Given the description of an element on the screen output the (x, y) to click on. 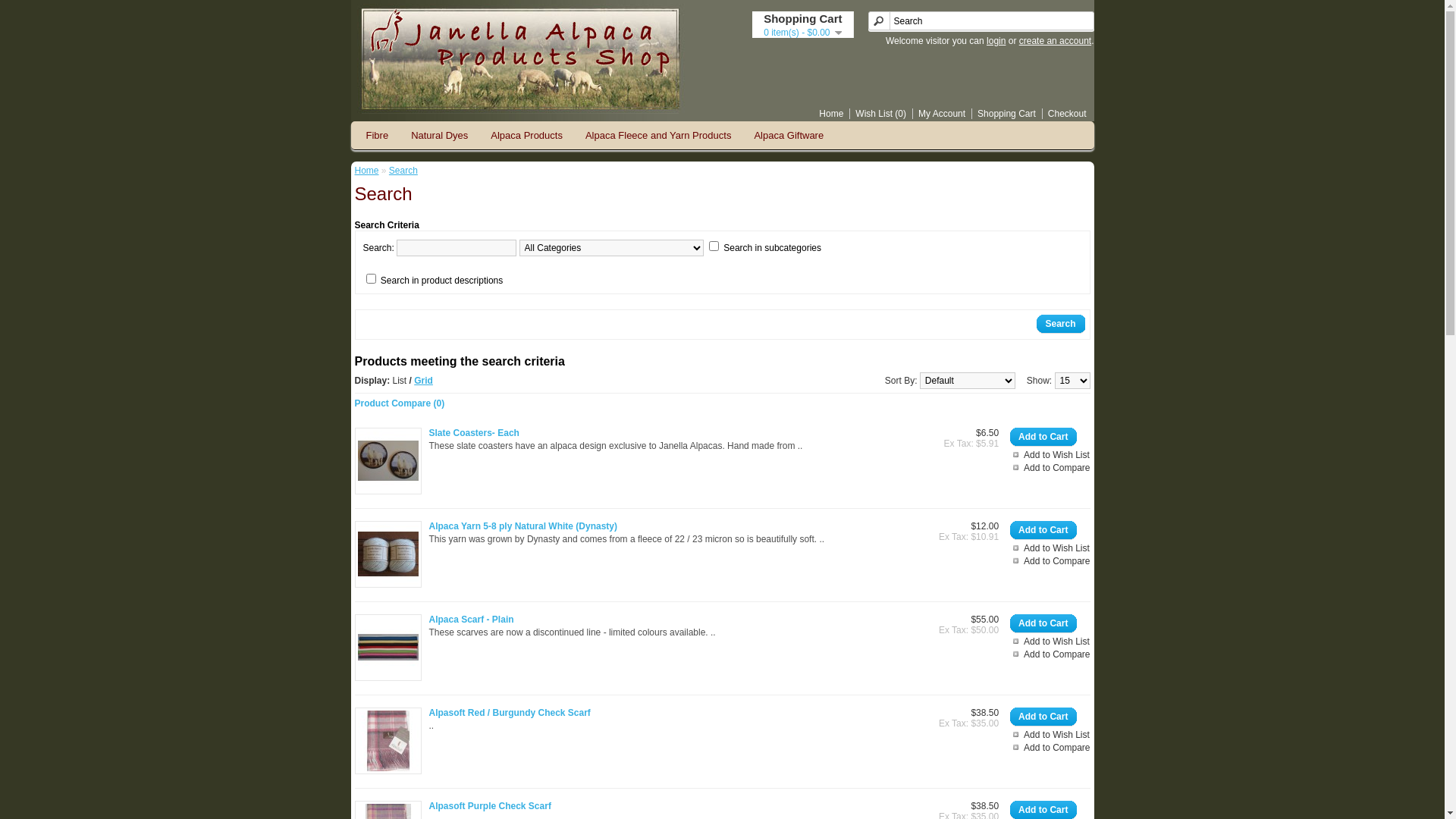
Alpaca Products Element type: text (526, 135)
Add to Wish List Element type: text (1049, 641)
Grid Element type: text (423, 380)
Home Element type: text (828, 113)
Add to Wish List Element type: text (1049, 454)
Janella Alpaca Products Element type: hover (519, 58)
login Element type: text (995, 40)
Add to Cart Element type: text (1043, 623)
Natural Dyes Element type: text (439, 135)
Search Element type: text (980, 20)
Alpaca Scarf - Plain Element type: text (471, 619)
Home Element type: text (366, 170)
Add to Compare Element type: text (1049, 467)
Add to Cart Element type: text (1043, 437)
My Account Element type: text (938, 113)
Slate Coasters- Each Element type: text (474, 432)
Alpaca Yarn 5-8 ply Natural White (Dynasty) Element type: text (523, 525)
Alpasoft Red / Burgundy Check Scarf Element type: hover (387, 740)
Add to Compare Element type: text (1049, 747)
Search Element type: text (1060, 324)
Add to Compare Element type: text (1049, 654)
Add to Compare Element type: text (1049, 560)
Checkout Element type: text (1063, 113)
Shopping Cart Element type: text (1003, 113)
Search Element type: text (403, 170)
Alpaca Fleece and Yarn Products Element type: text (658, 135)
Alpaca Yarn 5-8 ply Natural White (Dynasty) Element type: hover (387, 553)
Product Compare (0) Element type: text (399, 403)
Add to Cart Element type: text (1043, 530)
Add to Cart Element type: text (1043, 717)
0 item(s) - $0.00 Element type: text (801, 32)
Wish List (0) Element type: text (877, 113)
Add to Wish List Element type: text (1049, 734)
Alpaca Giftware Element type: text (788, 135)
Fibre Element type: text (377, 135)
Alpasoft Purple Check Scarf Element type: text (490, 805)
Alpasoft Red / Burgundy Check Scarf Element type: text (509, 712)
create an account Element type: text (1055, 40)
Add to Wish List Element type: text (1049, 547)
Slate Coasters- Each Element type: hover (387, 460)
Alpaca Scarf - Plain Element type: hover (387, 647)
